Given the description of an element on the screen output the (x, y) to click on. 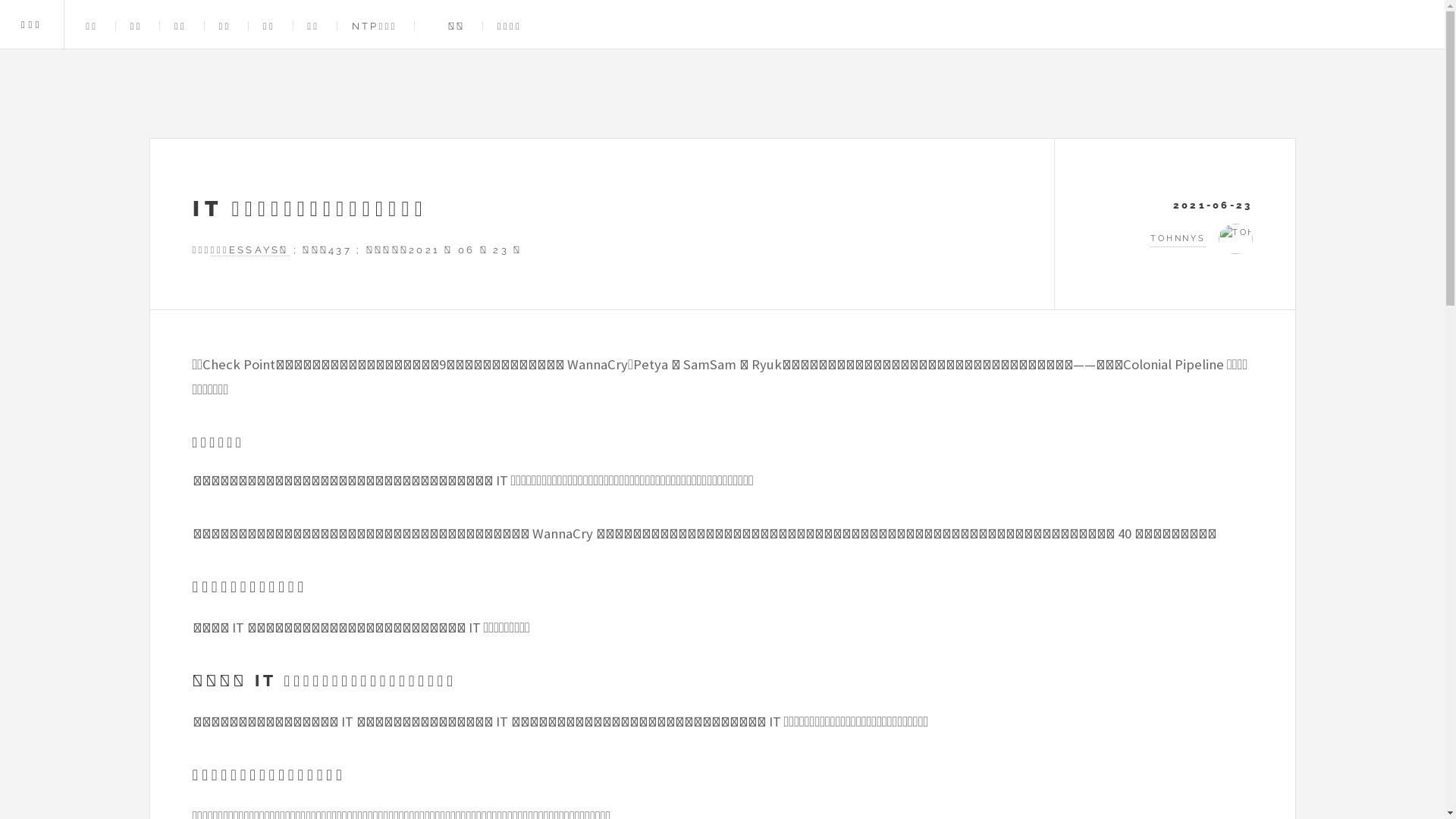
TOHNNYS Element type: text (1174, 238)
